Given the description of an element on the screen output the (x, y) to click on. 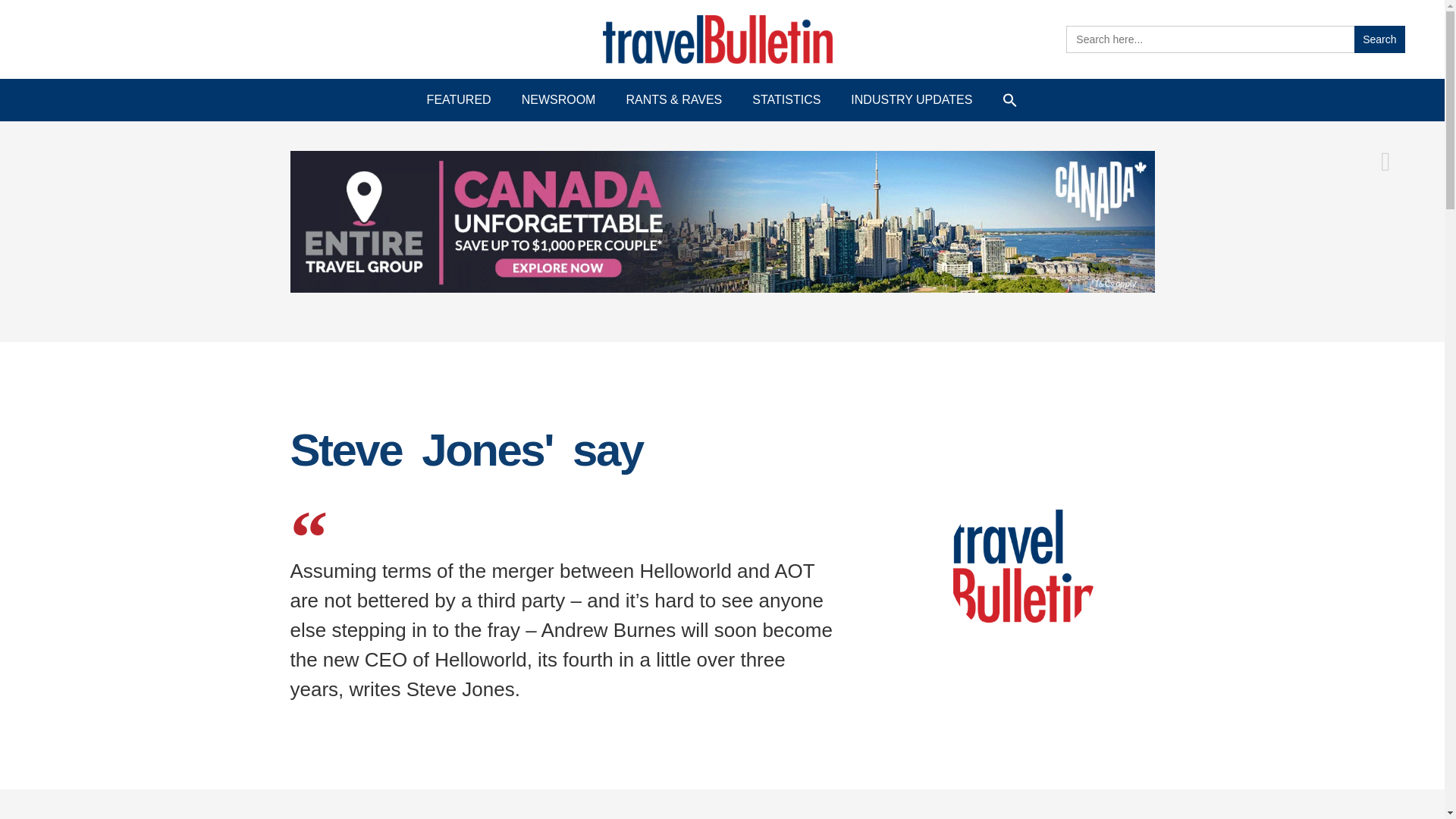
NEWSROOM (558, 99)
FEATURED (459, 99)
INDUSTRY UPDATES (911, 99)
Search (1379, 39)
STATISTICS (785, 99)
Search (1379, 39)
Search (1379, 39)
